Given the description of an element on the screen output the (x, y) to click on. 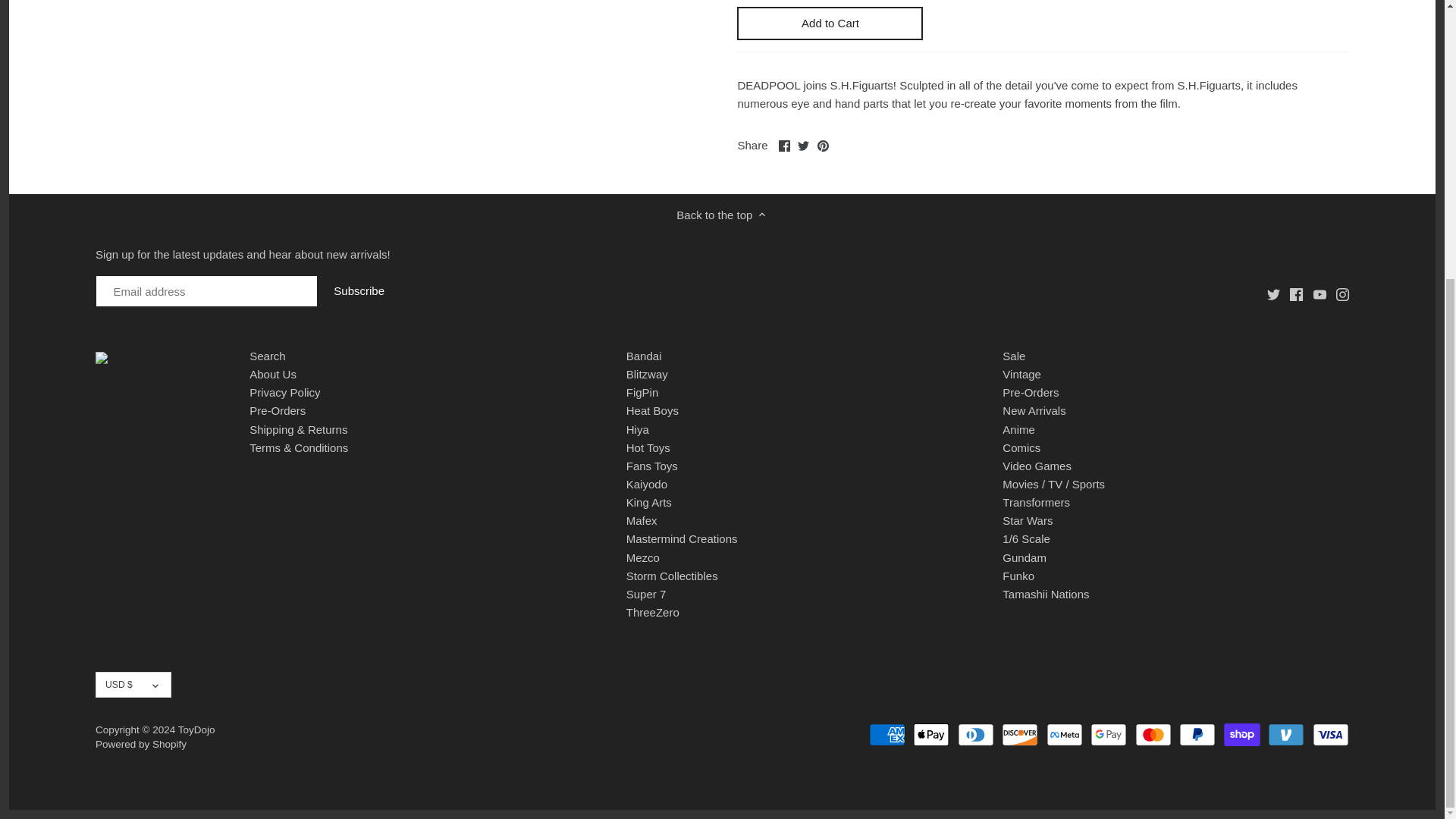
Facebook (784, 145)
Subscribe (359, 291)
Twitter (1272, 294)
Twitter (803, 145)
Pinterest (822, 145)
